Given the description of an element on the screen output the (x, y) to click on. 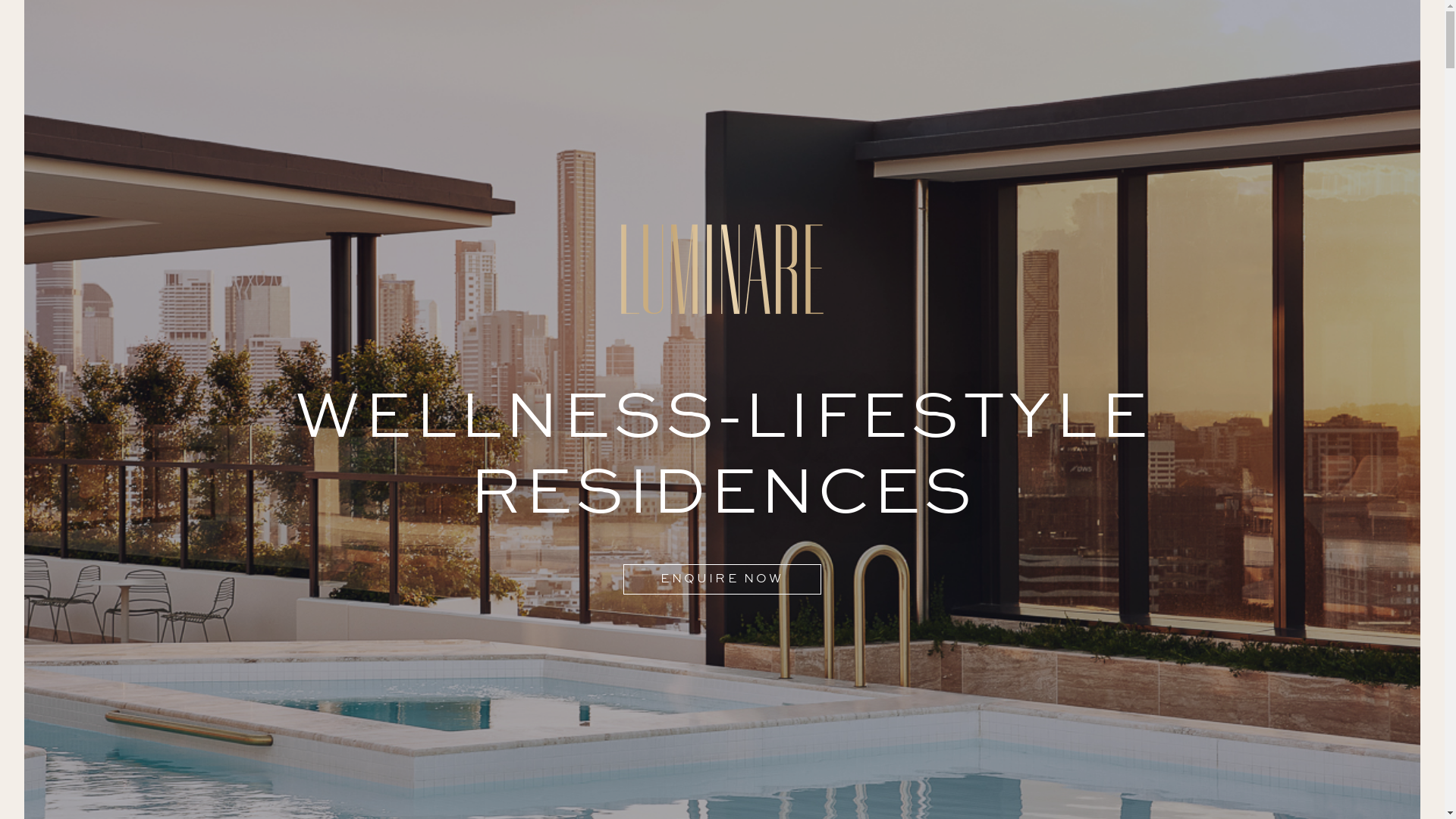
Luminare Newstead Element type: text (722, 268)
ENQUIRE NOW Element type: text (721, 579)
